Given the description of an element on the screen output the (x, y) to click on. 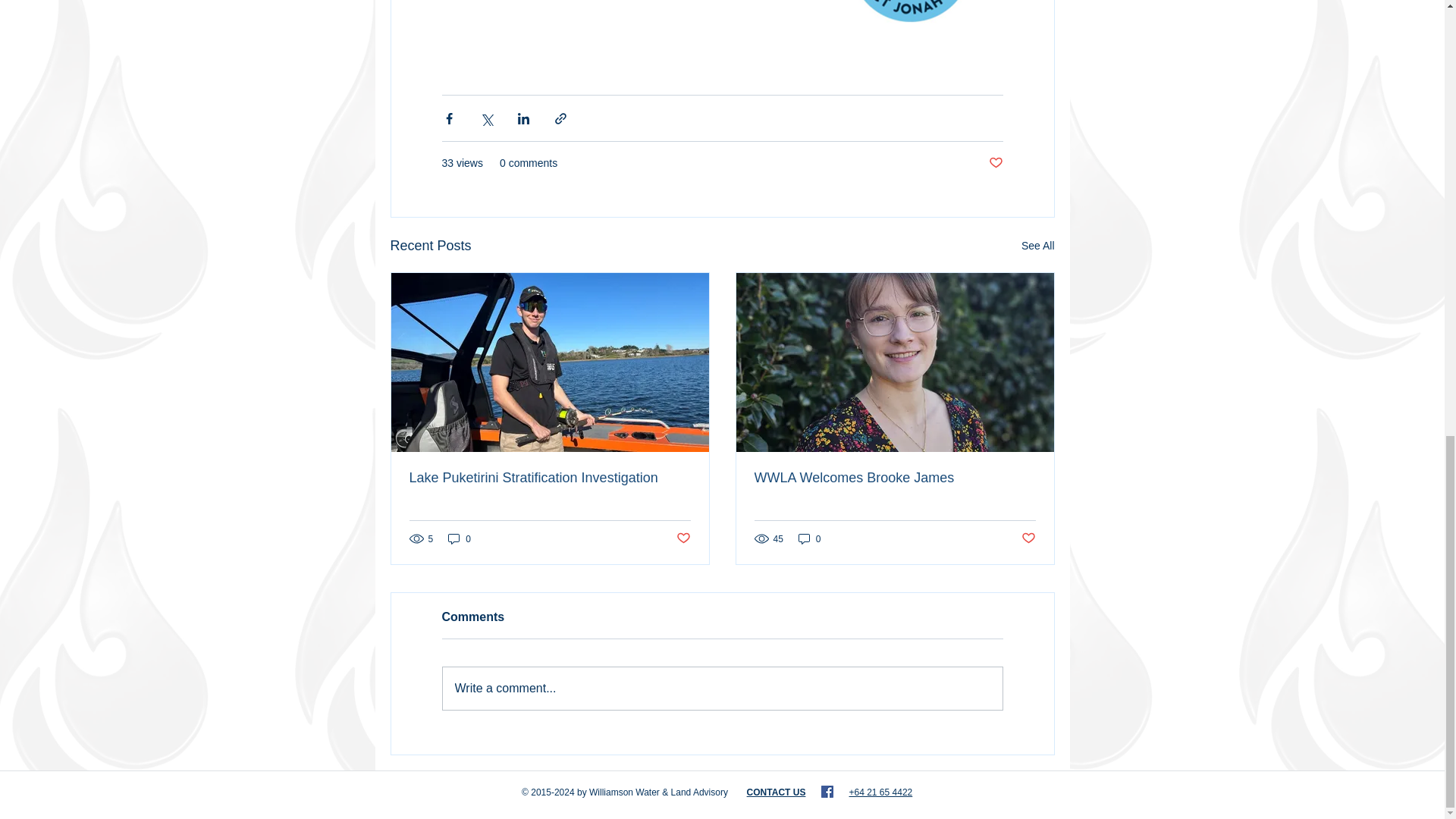
Write a comment... (722, 688)
See All (1038, 246)
Post not marked as liked (683, 538)
Lake Puketirini Stratification Investigation (549, 478)
Post not marked as liked (995, 163)
0 (458, 538)
Post not marked as liked (1027, 538)
WWLA Welcomes Brooke James (894, 478)
0 (809, 538)
